Given the description of an element on the screen output the (x, y) to click on. 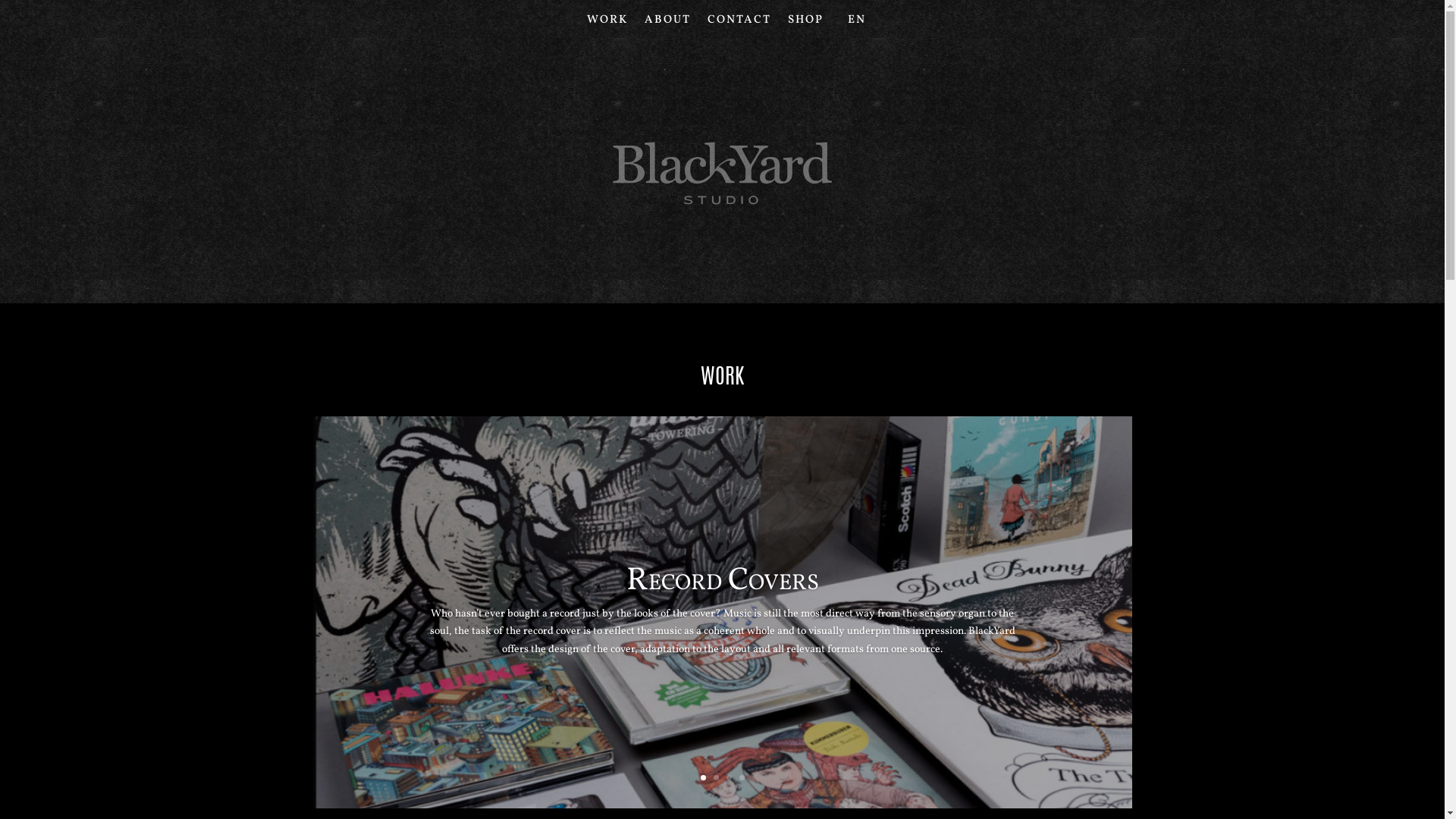
2 Element type: text (715, 777)
WORK Element type: text (606, 23)
ABOUT Element type: text (667, 23)
blackyard_studio-logo Element type: hover (722, 172)
EN Element type: text (856, 23)
SHOP Element type: text (804, 23)
4 Element type: text (740, 777)
3 Element type: text (728, 777)
1 Element type: text (703, 777)
CONTACT Element type: text (738, 23)
